Given the description of an element on the screen output the (x, y) to click on. 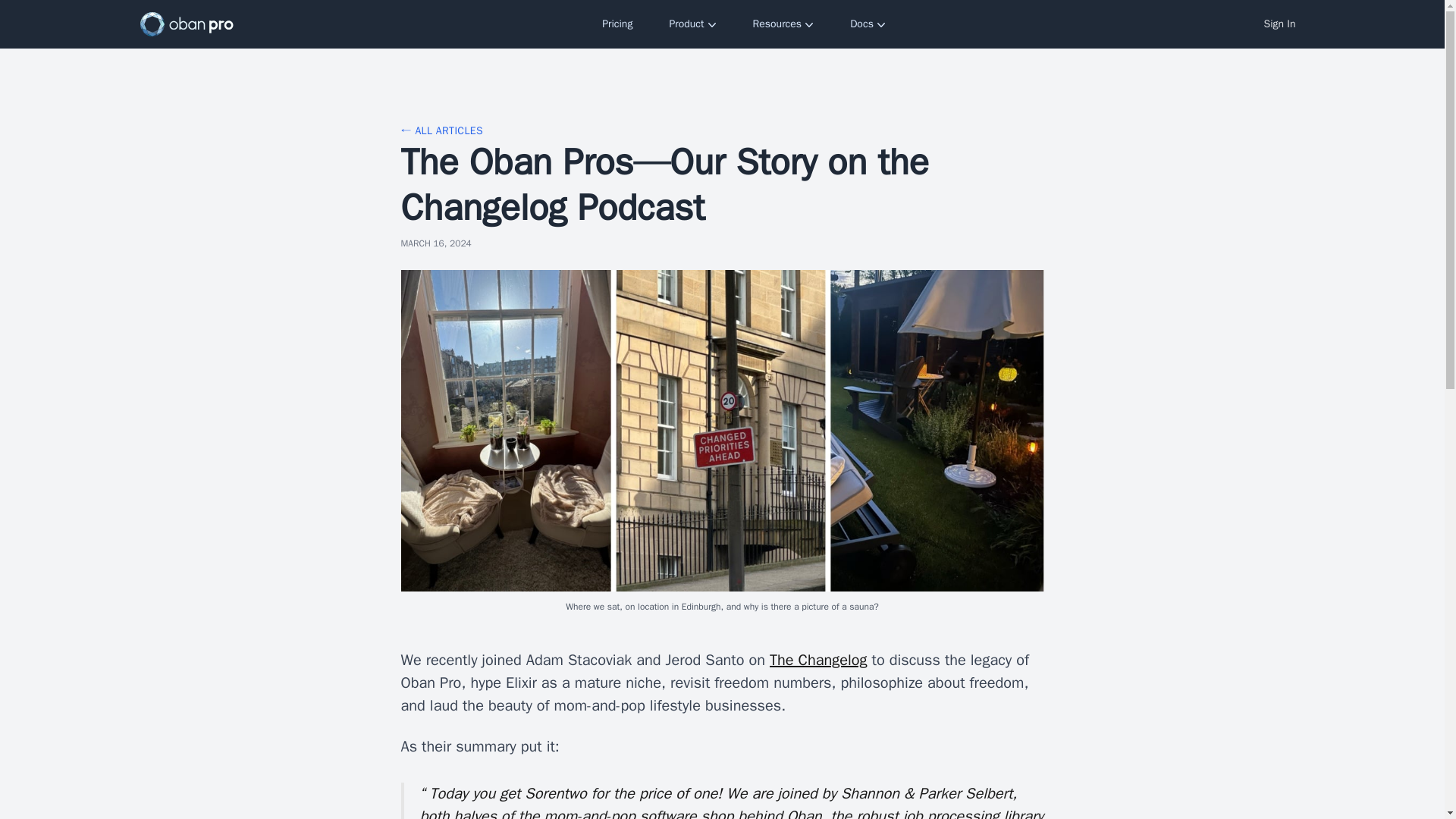
Resources (784, 23)
The Changelog (818, 659)
Sign In (1279, 23)
Pricing (617, 23)
Docs (868, 23)
Product (692, 23)
Oban Pro Logo (185, 24)
